Given the description of an element on the screen output the (x, y) to click on. 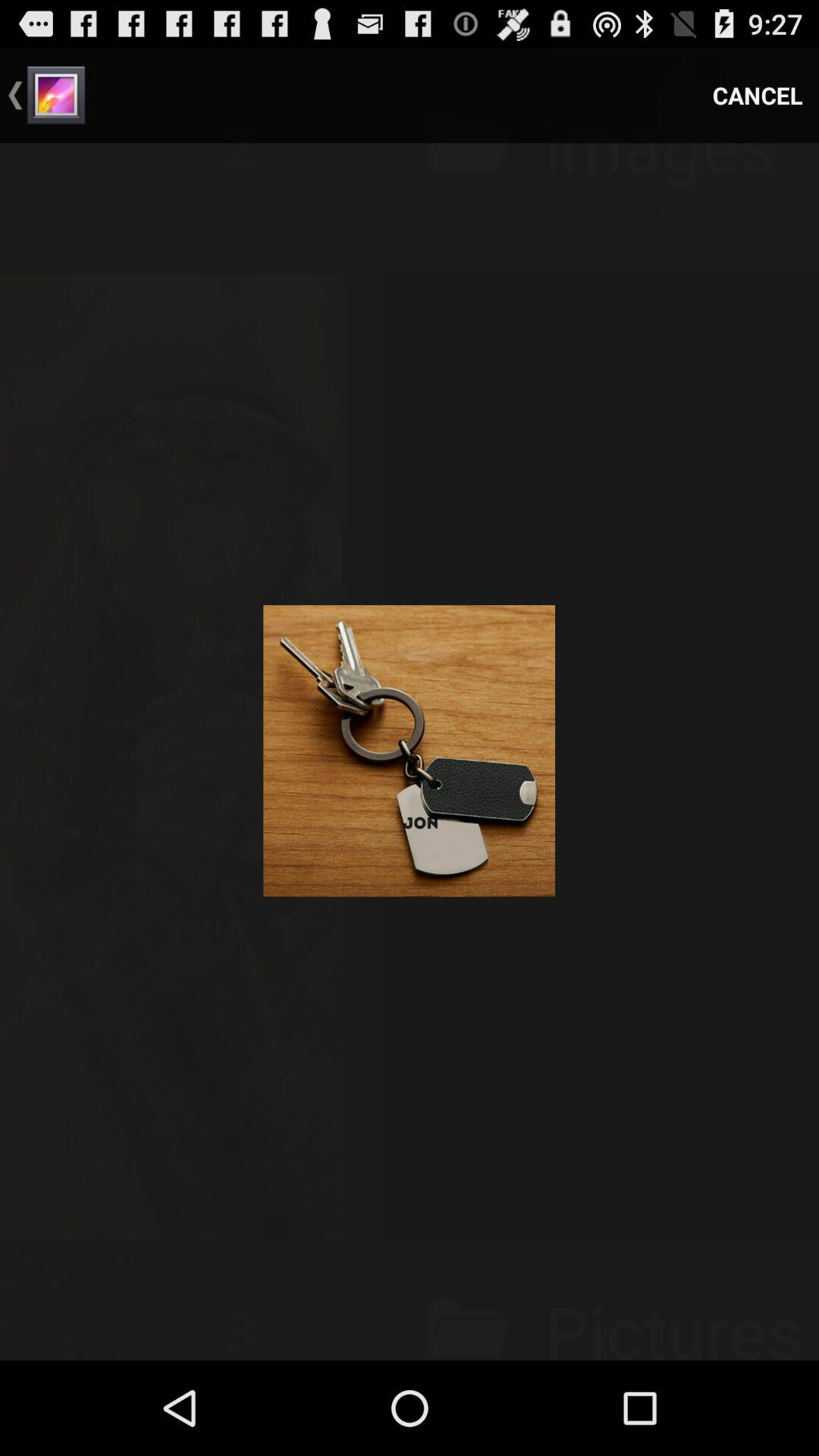
flip to cancel item (757, 95)
